Given the description of an element on the screen output the (x, y) to click on. 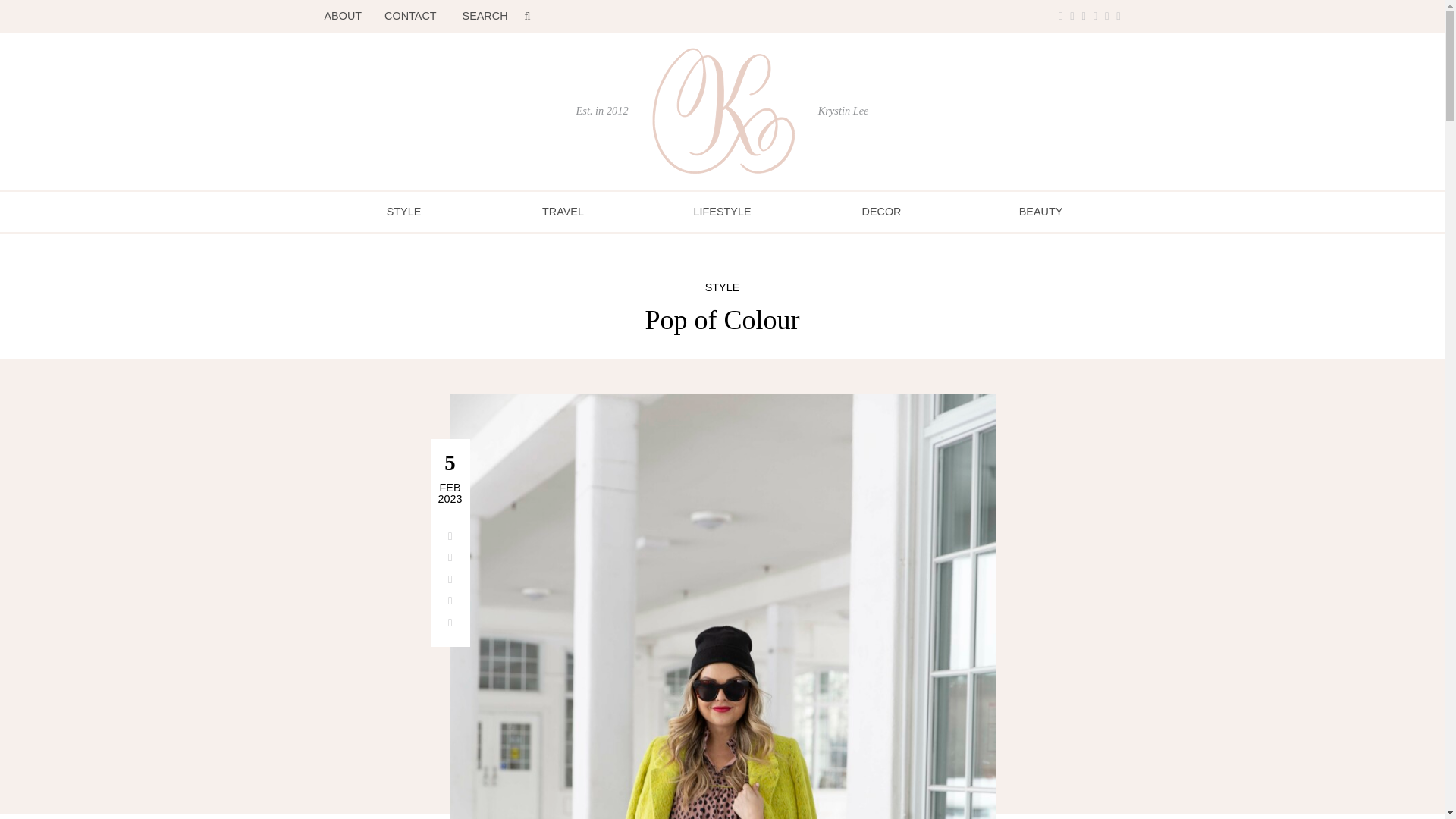
DECOR (881, 211)
LIFESTYLE (722, 211)
ABOUT (722, 110)
STYLE (343, 15)
TRAVEL (404, 211)
CONTACT (562, 211)
